Given the description of an element on the screen output the (x, y) to click on. 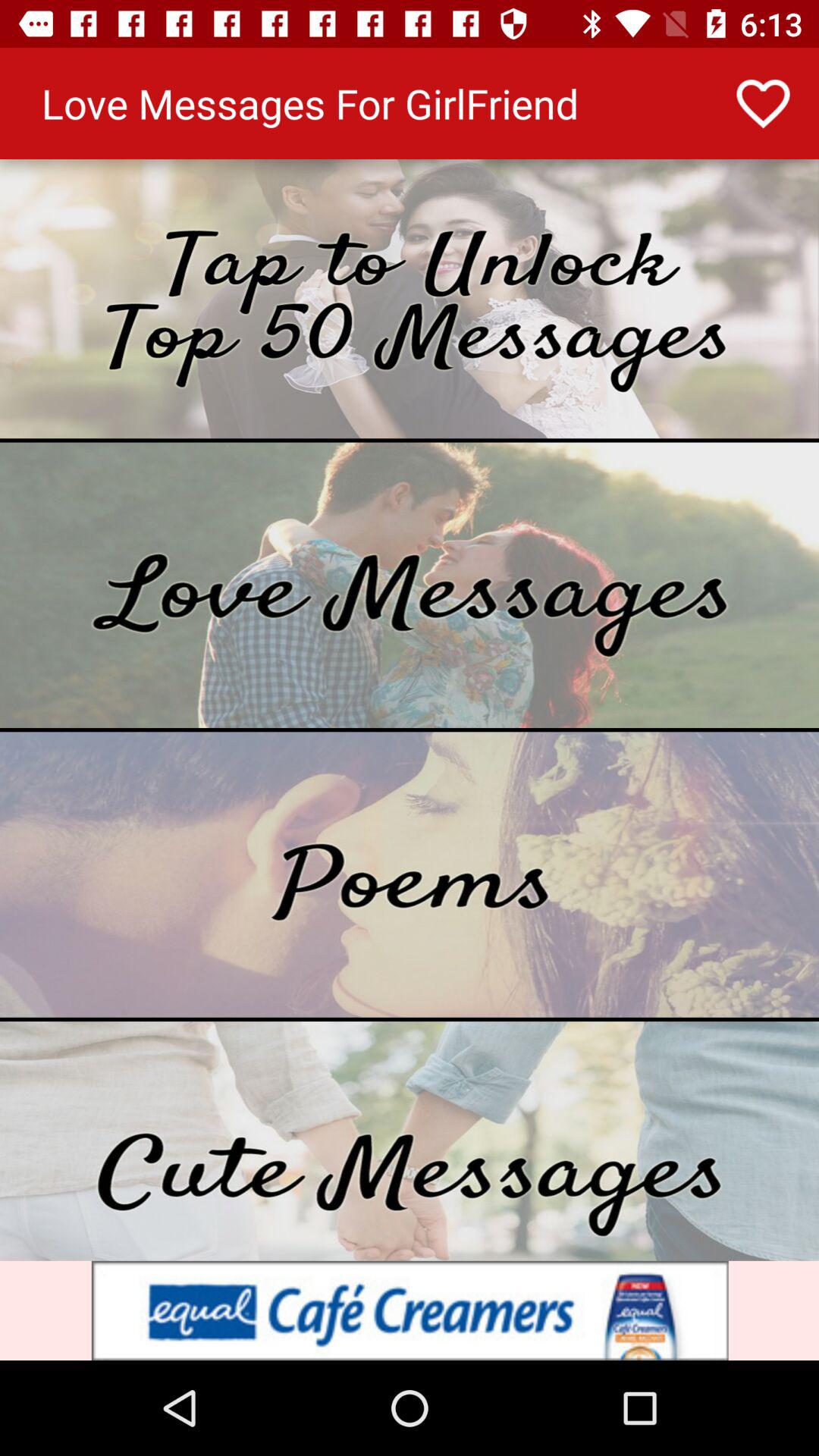
navigation select (409, 1140)
